Given the description of an element on the screen output the (x, y) to click on. 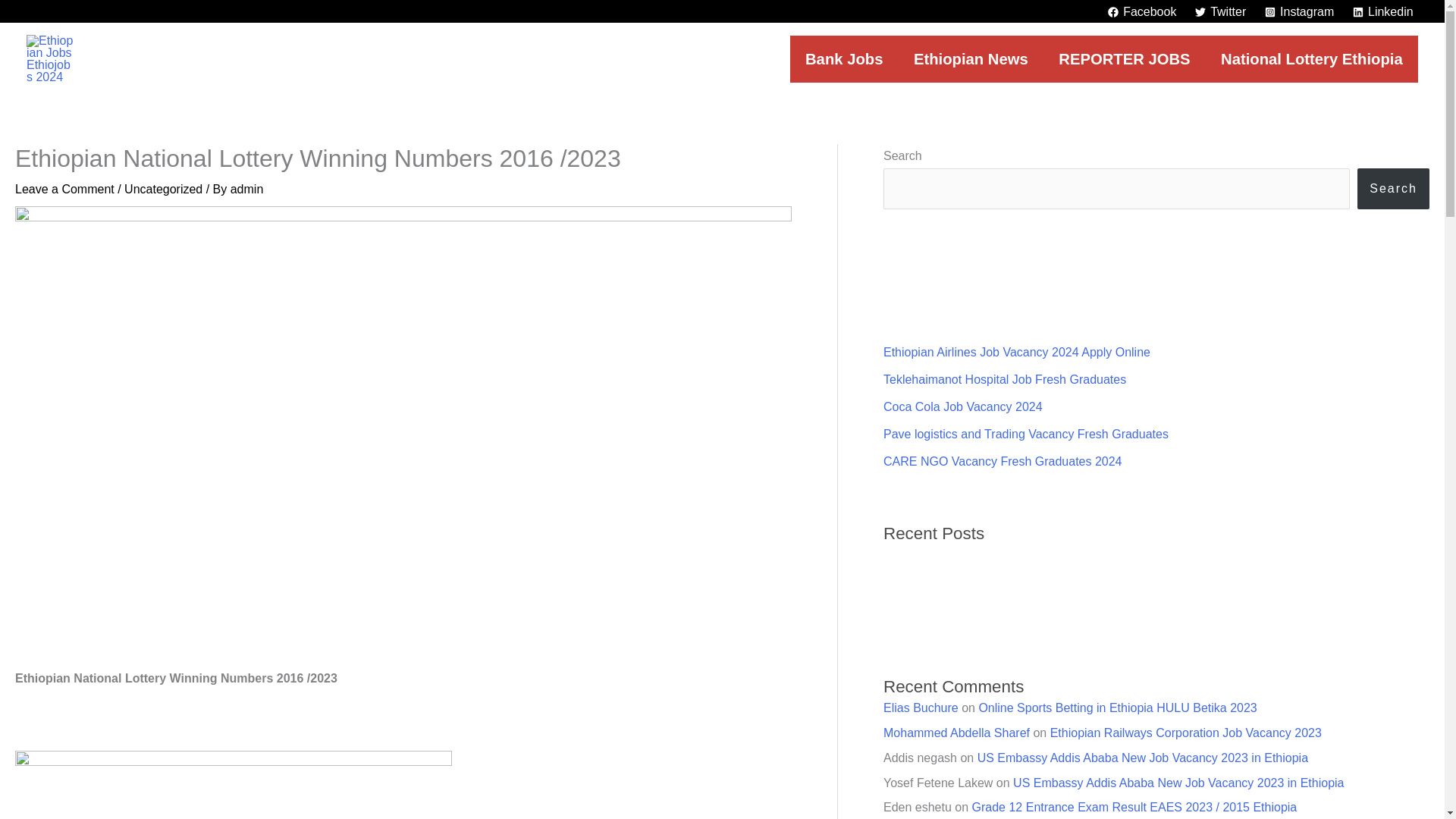
Uncategorized (162, 188)
PRIVACY POLICY (422, 58)
Ethiopian News (970, 59)
Leave a Comment (64, 188)
Linkedin (1383, 11)
Twitter (1220, 11)
View all posts by admin (246, 188)
National Lottery Ethiopia (1311, 59)
ABOUT US (156, 58)
CONTACT US (277, 58)
